Given the description of an element on the screen output the (x, y) to click on. 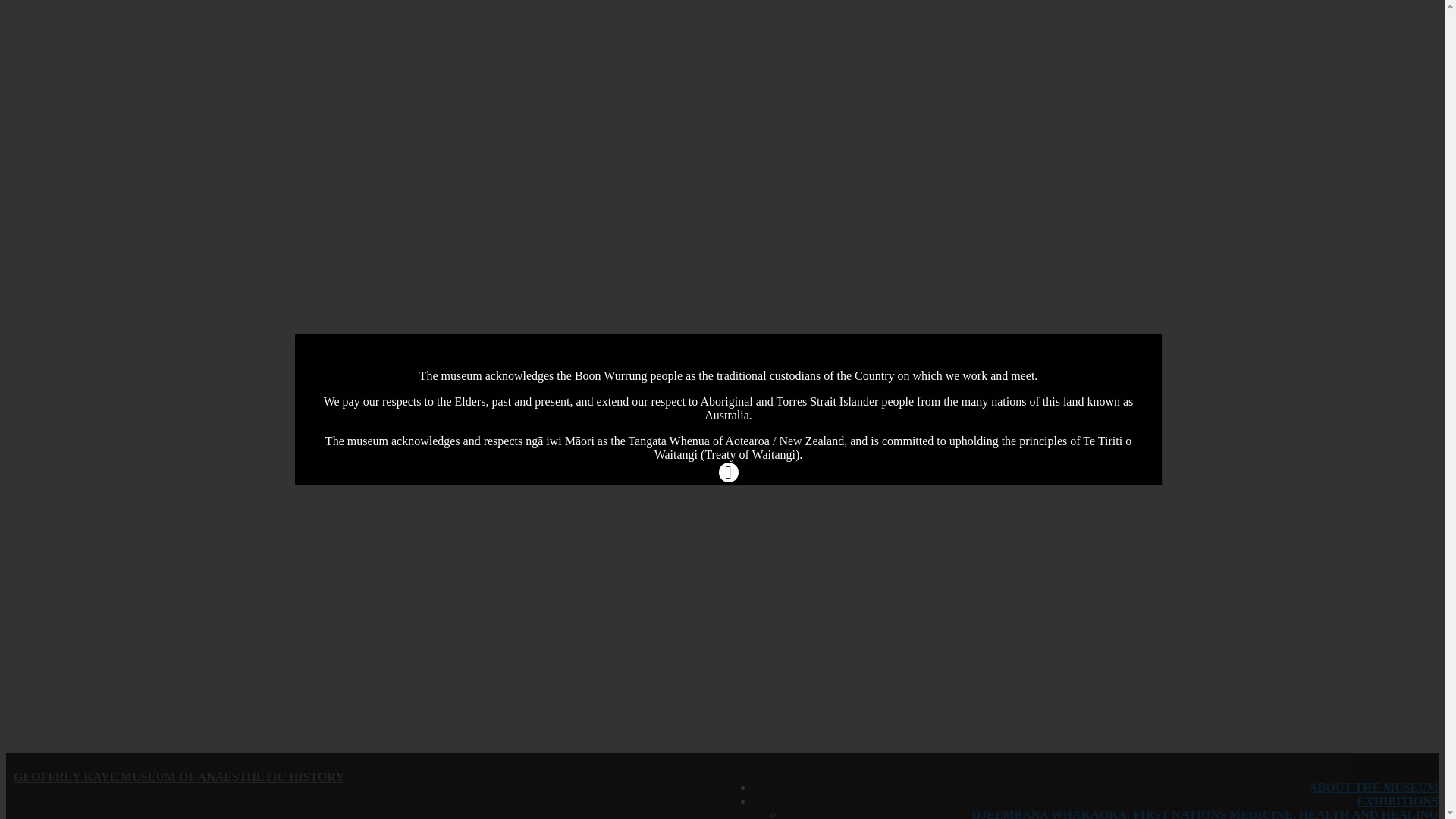
ABOUT THE MUSEUM Element type: text (1373, 787)
EXHIBITIONS Element type: text (1397, 800)
GEOFFREY KAYE MUSEUM OF ANAESTHETIC HISTORY Element type: text (178, 776)
